Given the description of an element on the screen output the (x, y) to click on. 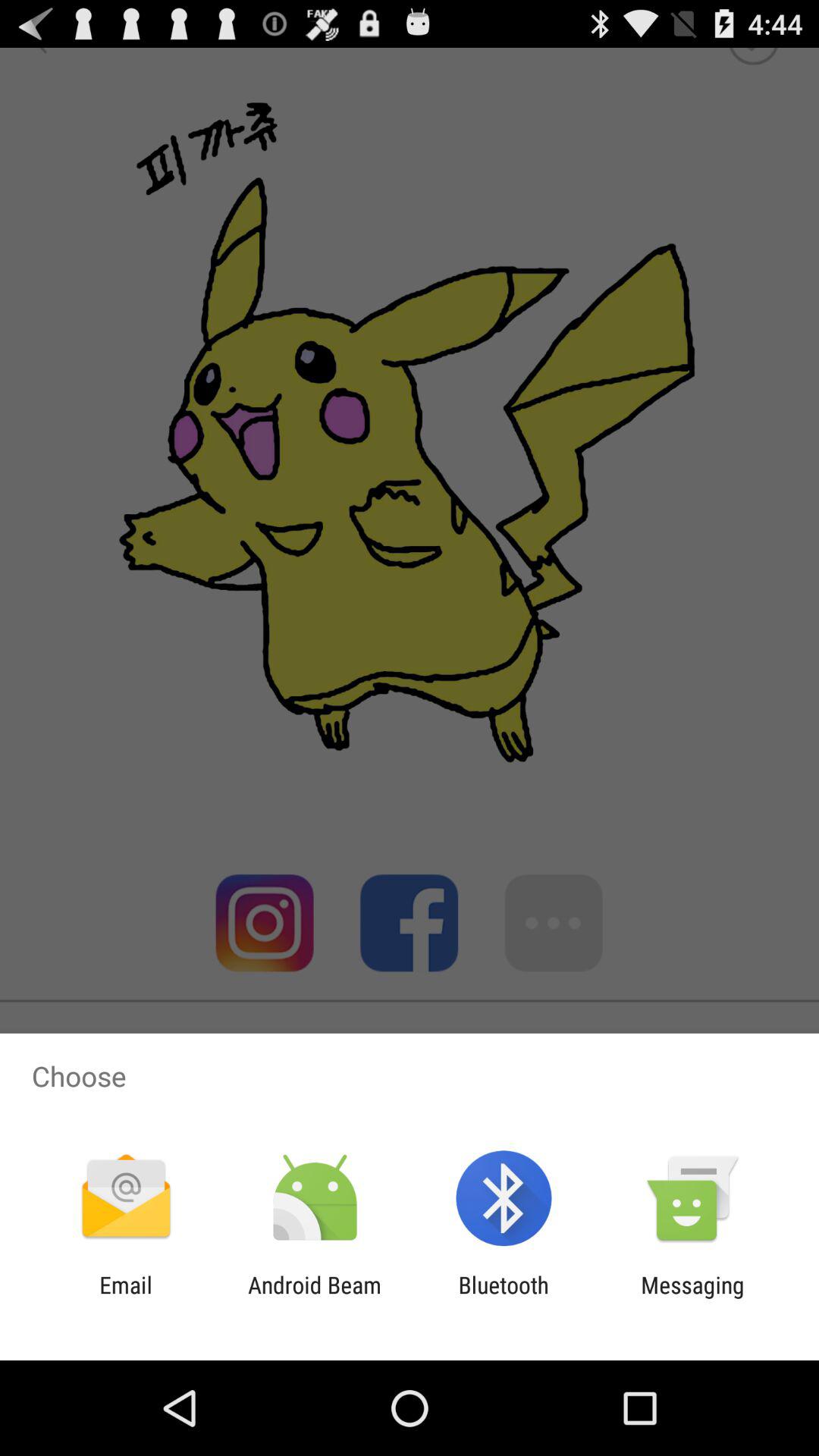
select the item to the left of the bluetooth (314, 1298)
